Given the description of an element on the screen output the (x, y) to click on. 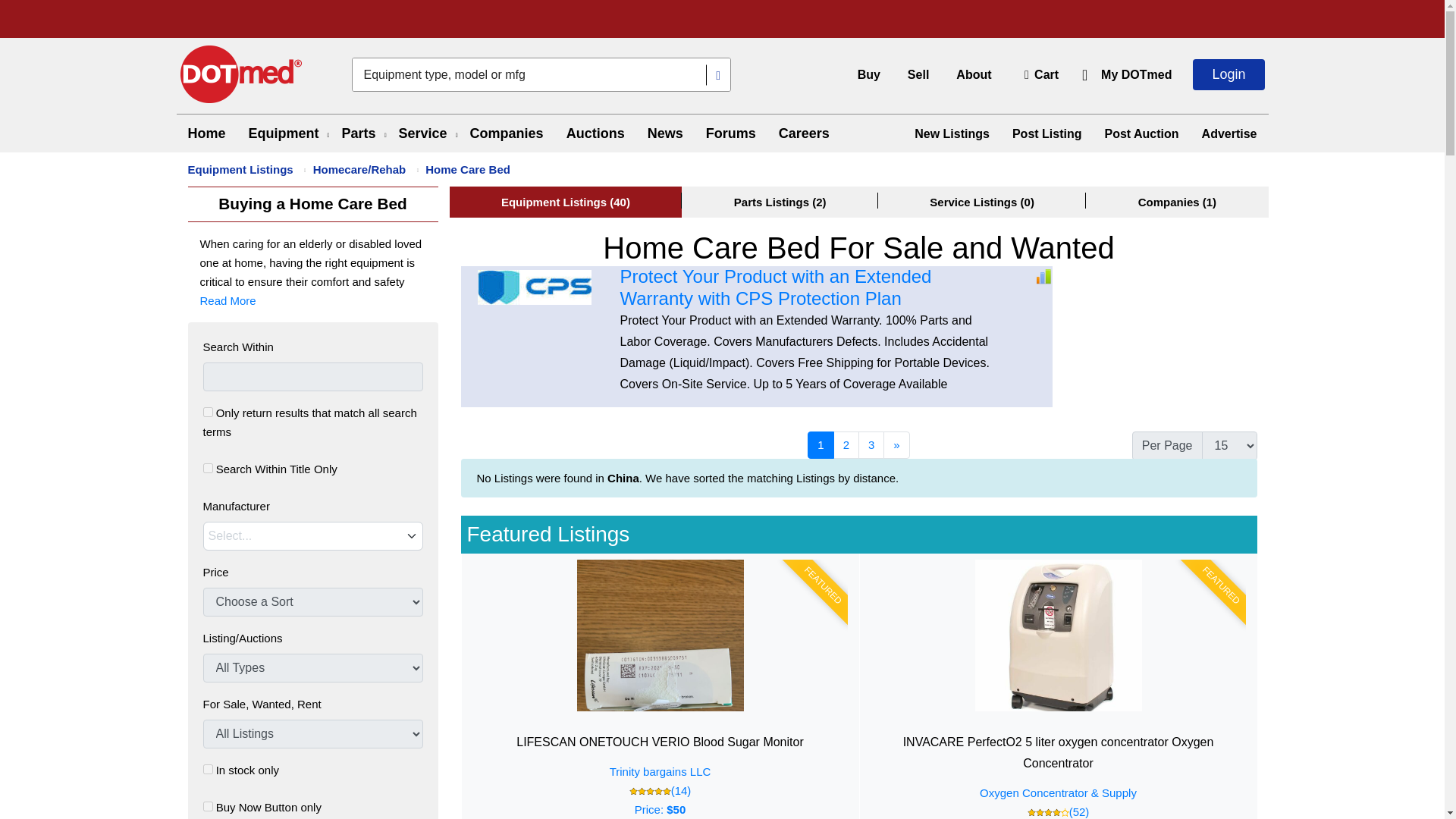
Sell (917, 74)
Cart (1039, 74)
1 (207, 768)
1 (207, 411)
Login (1227, 74)
Equipment (283, 133)
DOTmed.com Home (240, 74)
1 (207, 806)
Buy (868, 74)
About (973, 74)
Home (206, 133)
My DOTmed (1135, 74)
1 (207, 468)
